Given the description of an element on the screen output the (x, y) to click on. 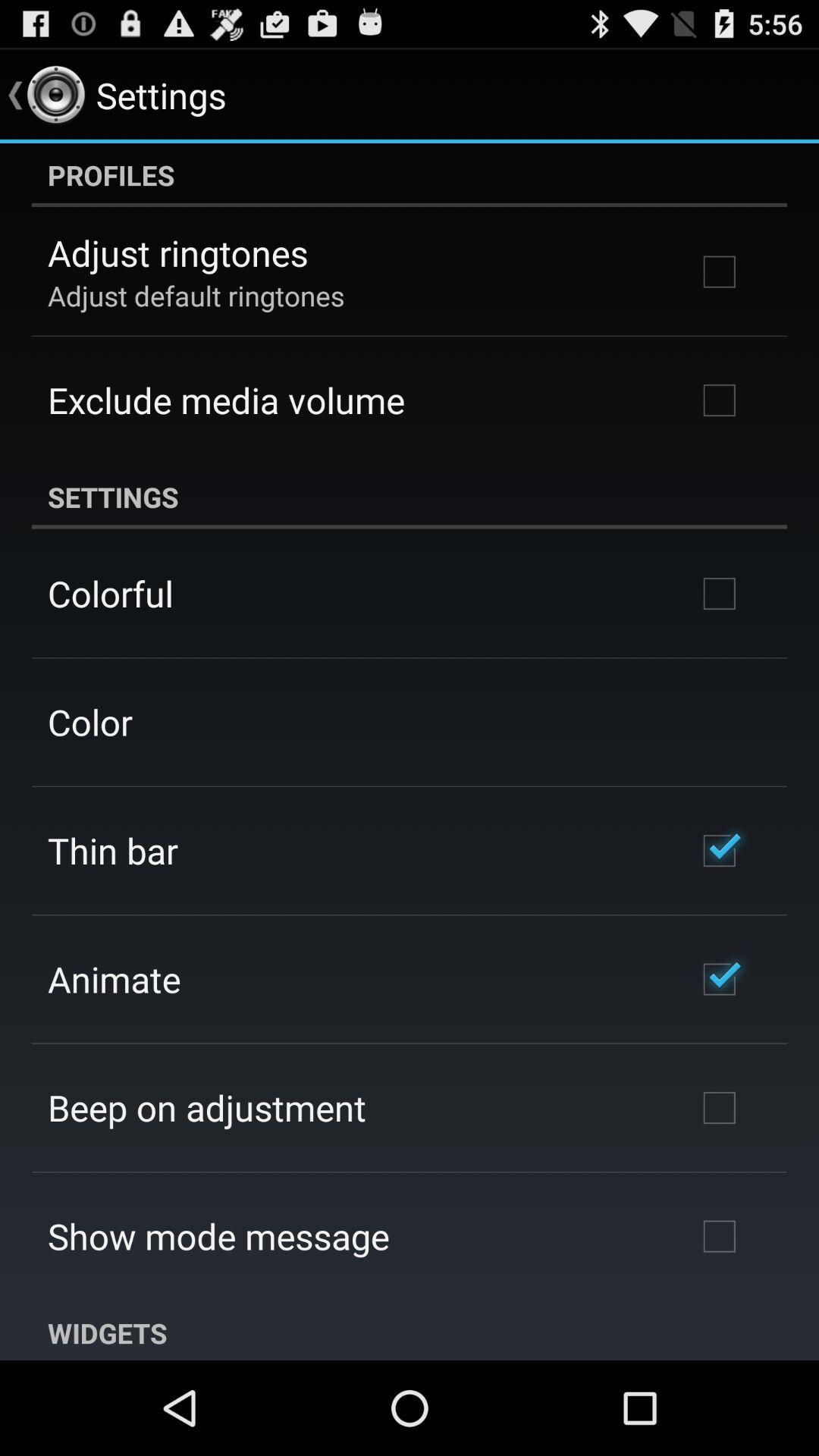
turn on item below the color icon (112, 850)
